Given the description of an element on the screen output the (x, y) to click on. 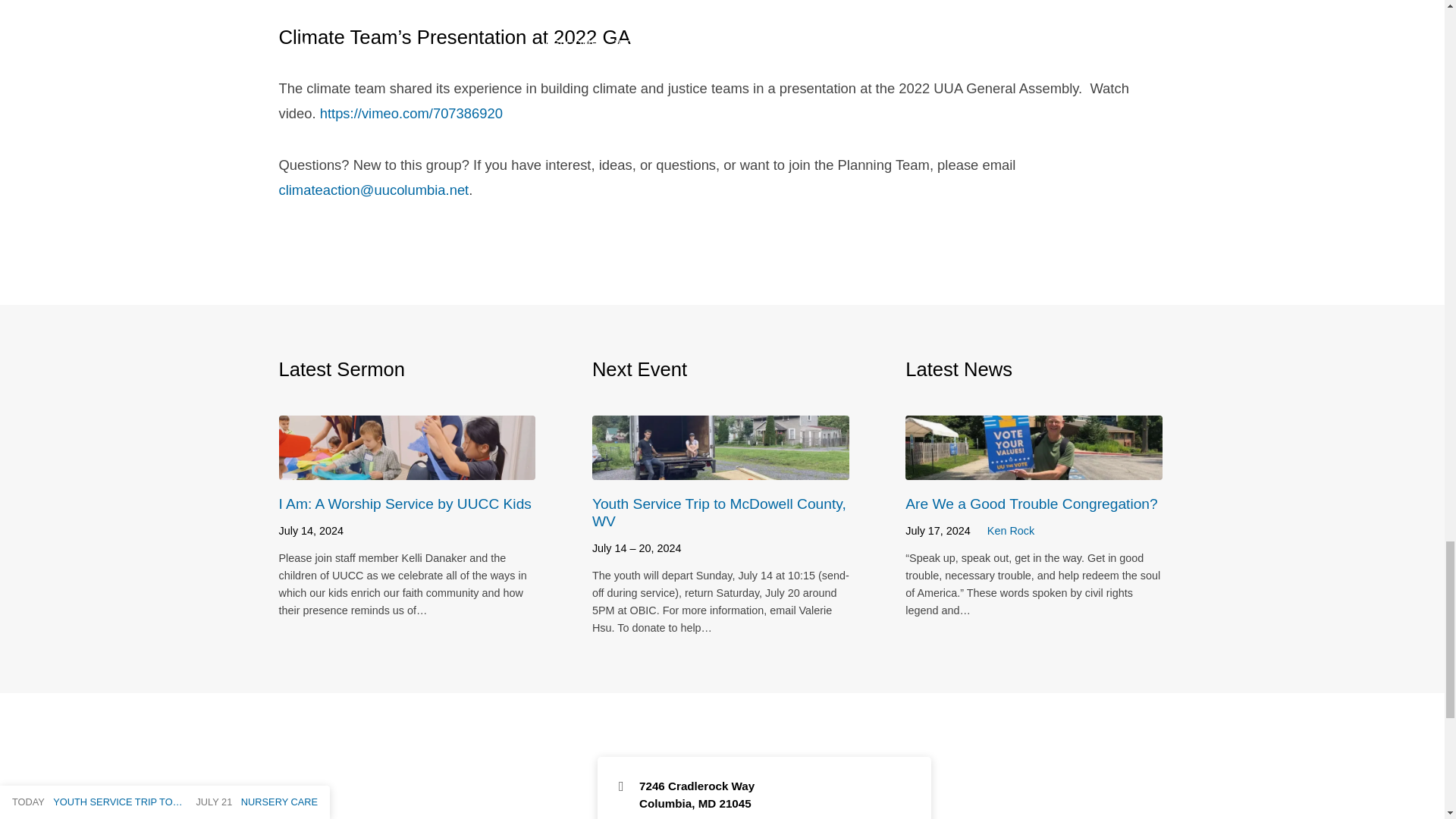
Youth Service Trip to McDowell County, WV (718, 512)
I Am: A Worship Service by UUCC Kids (407, 468)
Youth Service Trip to McDowell County, WV (720, 468)
I Am: A Worship Service by UUCC Kids (405, 503)
Are We a Good Trouble Congregation? (1031, 503)
Are We a Good Trouble Congregation? (1033, 468)
